Given the description of an element on the screen output the (x, y) to click on. 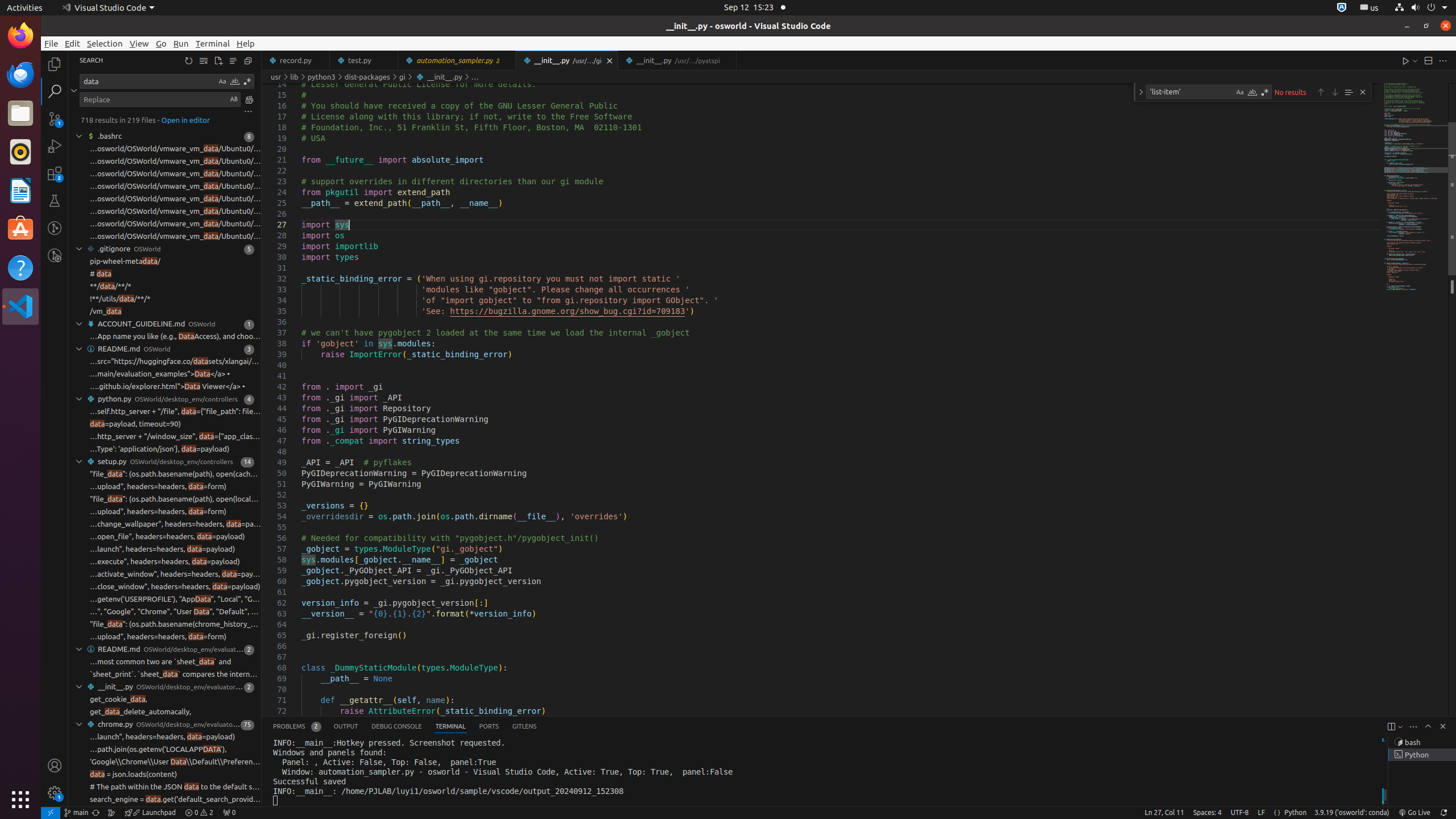
…execute", headers=headers, data=payload) Element type: link (164, 561)
…osworld/OSWorld/vmware_vm_data/Ubuntu0/Ubuntu0.vmx" Element type: link (175, 148)
Collapse All Element type: push-button (247, 60)
…osworld/OSWorld/vmware_vm_data/Ubuntu0/Ubuntu0.vmx /home/user/vm.log vm.log; }; _vmbash' vmrun -T ws -gu user -gp password runScriptInGuest /home/PJLAB/luyi1/osworld/OSWorld/vmware_vm_data/Ubuntu0/Ubuntu0.vmx "/bin/bash" "ip a > /home/user/vm.log" & Element type: link (175, 185)
3.9.19 ('osworld': conda), ~/anaconda3/envs/osworld/bin/python Element type: push-button (1351, 812)
